Given the description of an element on the screen output the (x, y) to click on. 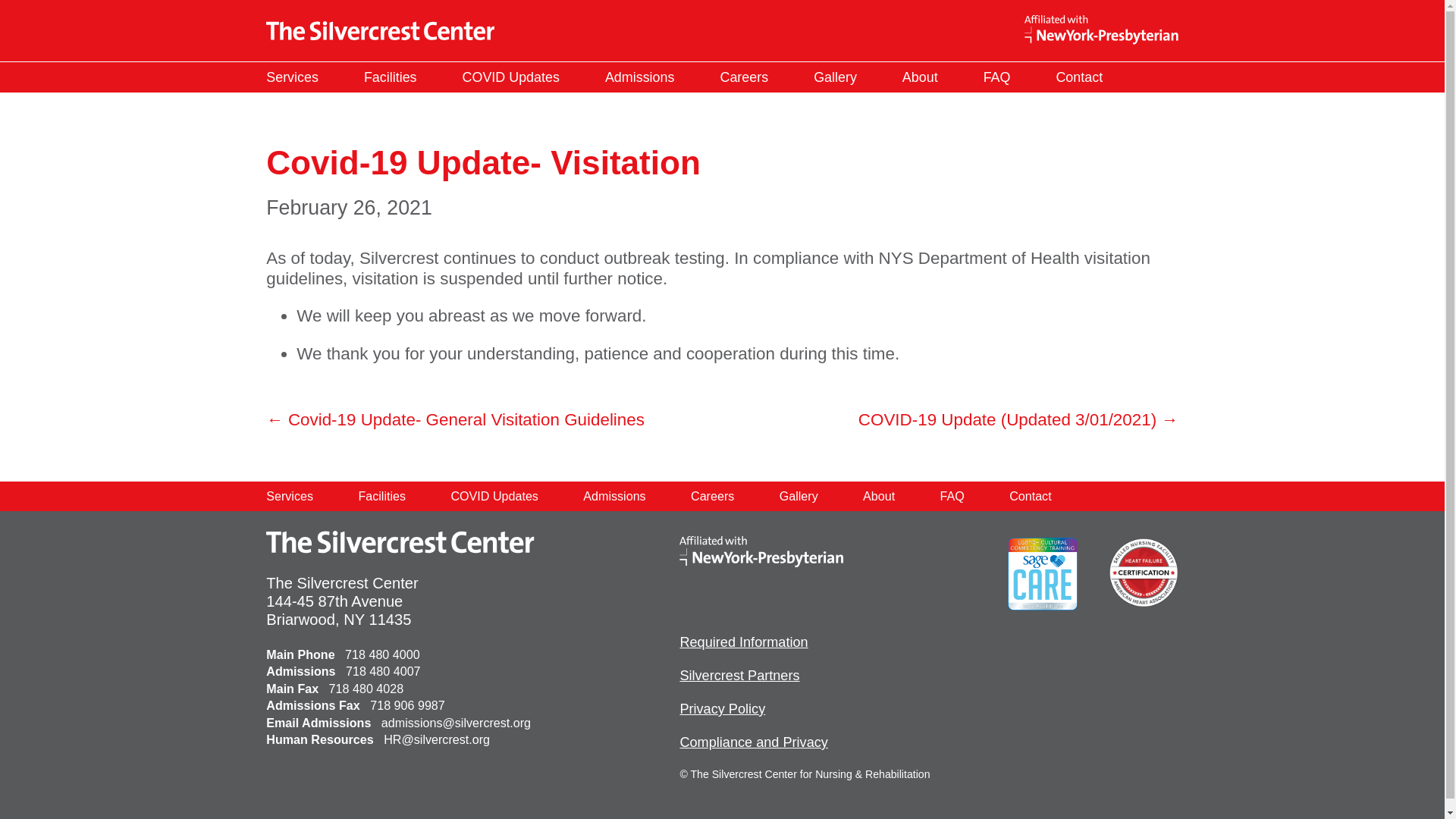
Gallery (798, 495)
FAQ (996, 77)
FAQ (952, 495)
COVID Updates (510, 77)
Silvercrest Partners (739, 675)
Careers (711, 495)
Compliance and Privacy (753, 742)
Careers (744, 77)
Contact (1078, 77)
Gallery (834, 77)
